Given the description of an element on the screen output the (x, y) to click on. 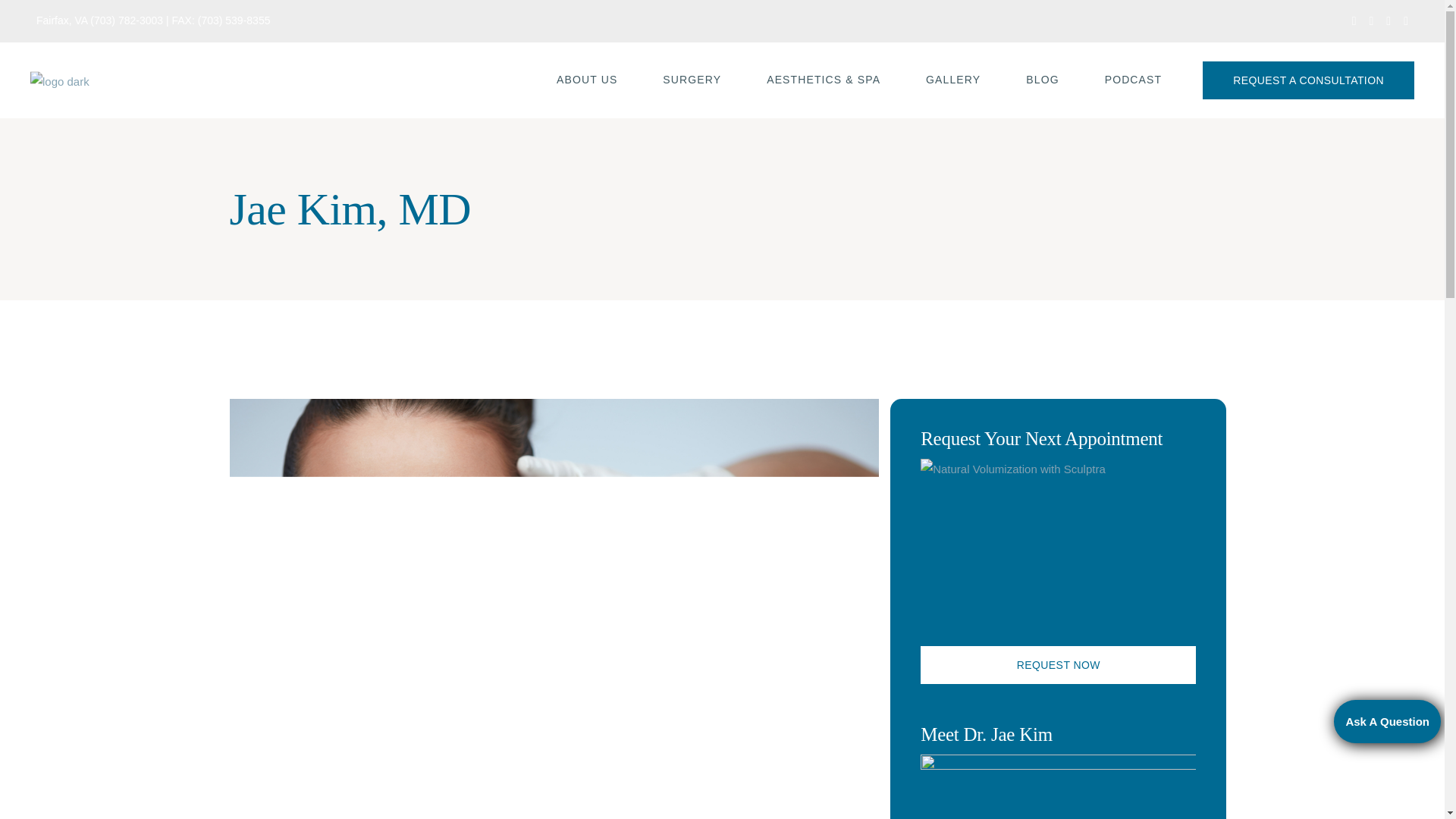
Ask A Question (1387, 721)
